Given the description of an element on the screen output the (x, y) to click on. 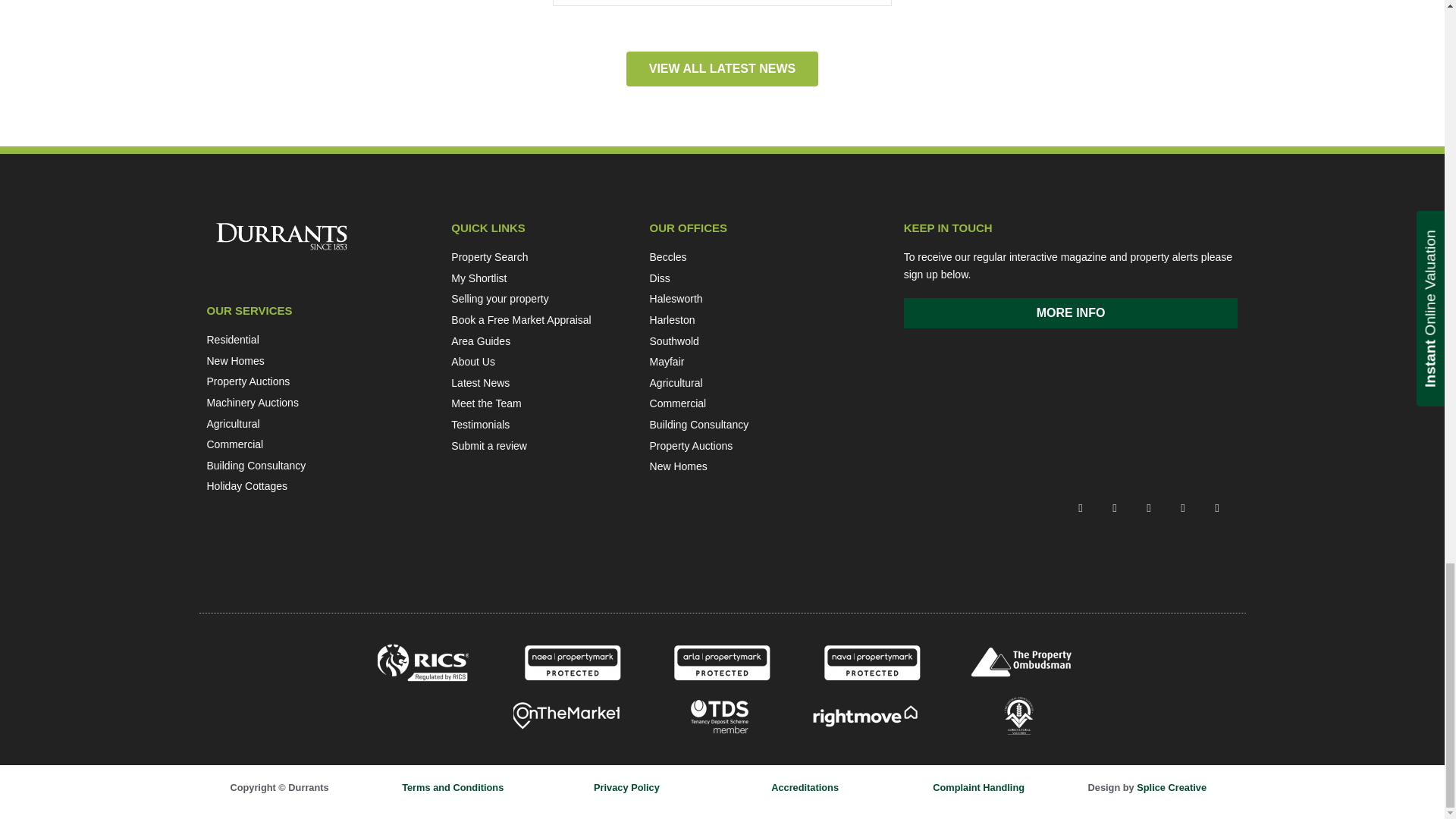
logo-rightmove-wh (865, 715)
rics (422, 662)
TPO (1021, 662)
logo-nava-protected-wh (871, 662)
logo-arla-protected-wh (721, 662)
logo-naea-protected-wh (572, 662)
OnTheMarket-Suffolkproperties (566, 715)
TDS-Member-Logo-Large-Transparent (722, 715)
logo-caav-wh-2 (1019, 715)
